Given the description of an element on the screen output the (x, y) to click on. 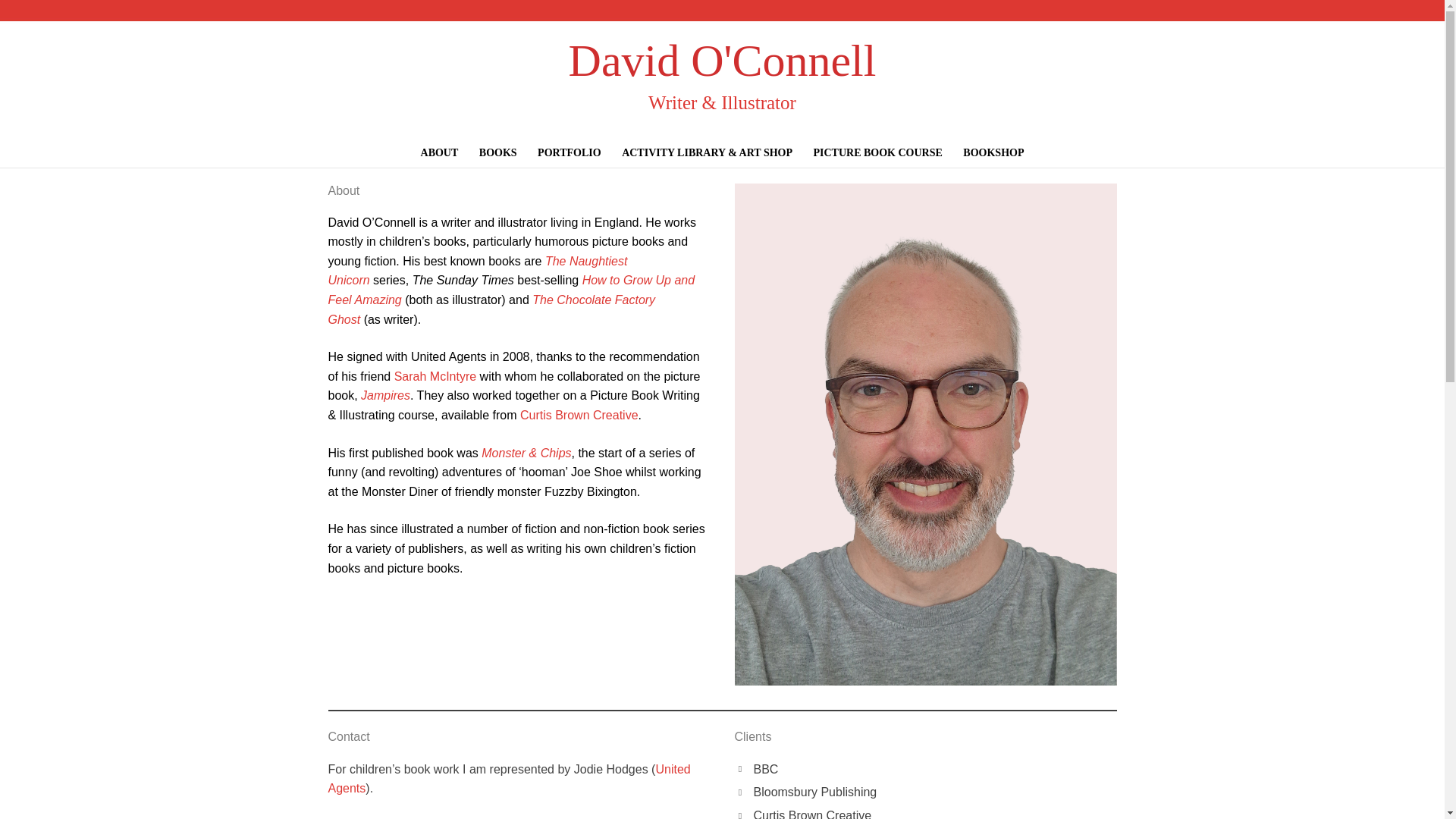
The Naughtiest Unicorn (477, 270)
Jampires (385, 395)
How to Grow Up and Feel Amazing (510, 289)
BOOKSHOP (992, 152)
PORTFOLIO (569, 152)
Sarah McIntyre (435, 376)
The Chocolate Factory Ghost (491, 309)
PICTURE BOOK COURSE (876, 152)
Curtis Brown Creative (579, 414)
ABOUT (439, 152)
United Agents (508, 778)
SKIP TO CONTENT (313, 147)
BOOKS (497, 152)
David O'Connell (722, 60)
